Given the description of an element on the screen output the (x, y) to click on. 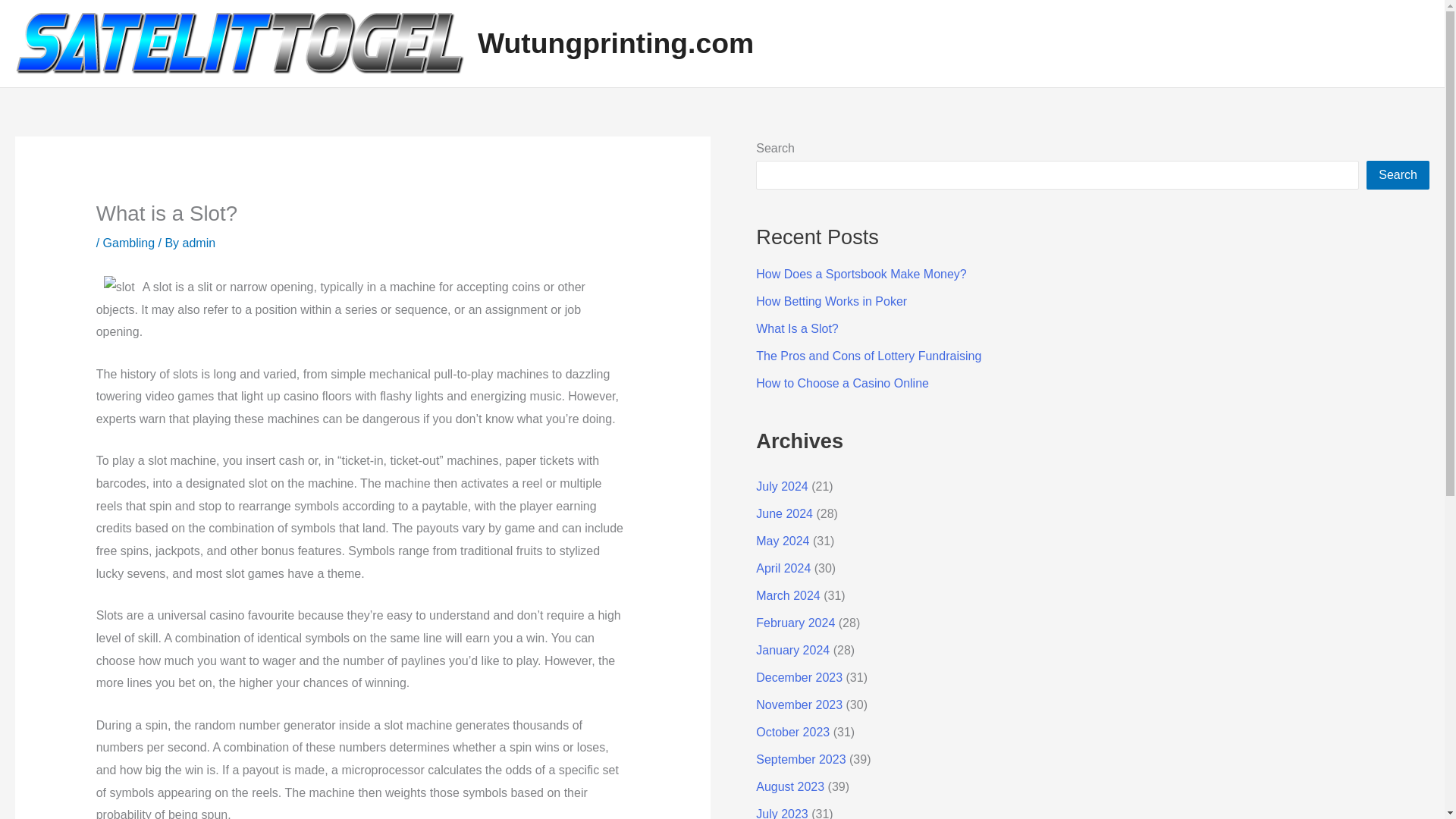
Wutungprinting.com (615, 42)
July 2024 (781, 486)
March 2024 (788, 594)
April 2024 (782, 567)
View all posts by admin (199, 242)
October 2023 (792, 731)
What Is a Slot? (796, 328)
Gambling (128, 242)
How to Choose a Casino Online (841, 382)
Search (1398, 174)
The Pros and Cons of Lottery Fundraising (868, 355)
June 2024 (783, 513)
December 2023 (799, 676)
January 2024 (792, 649)
July 2023 (781, 813)
